Given the description of an element on the screen output the (x, y) to click on. 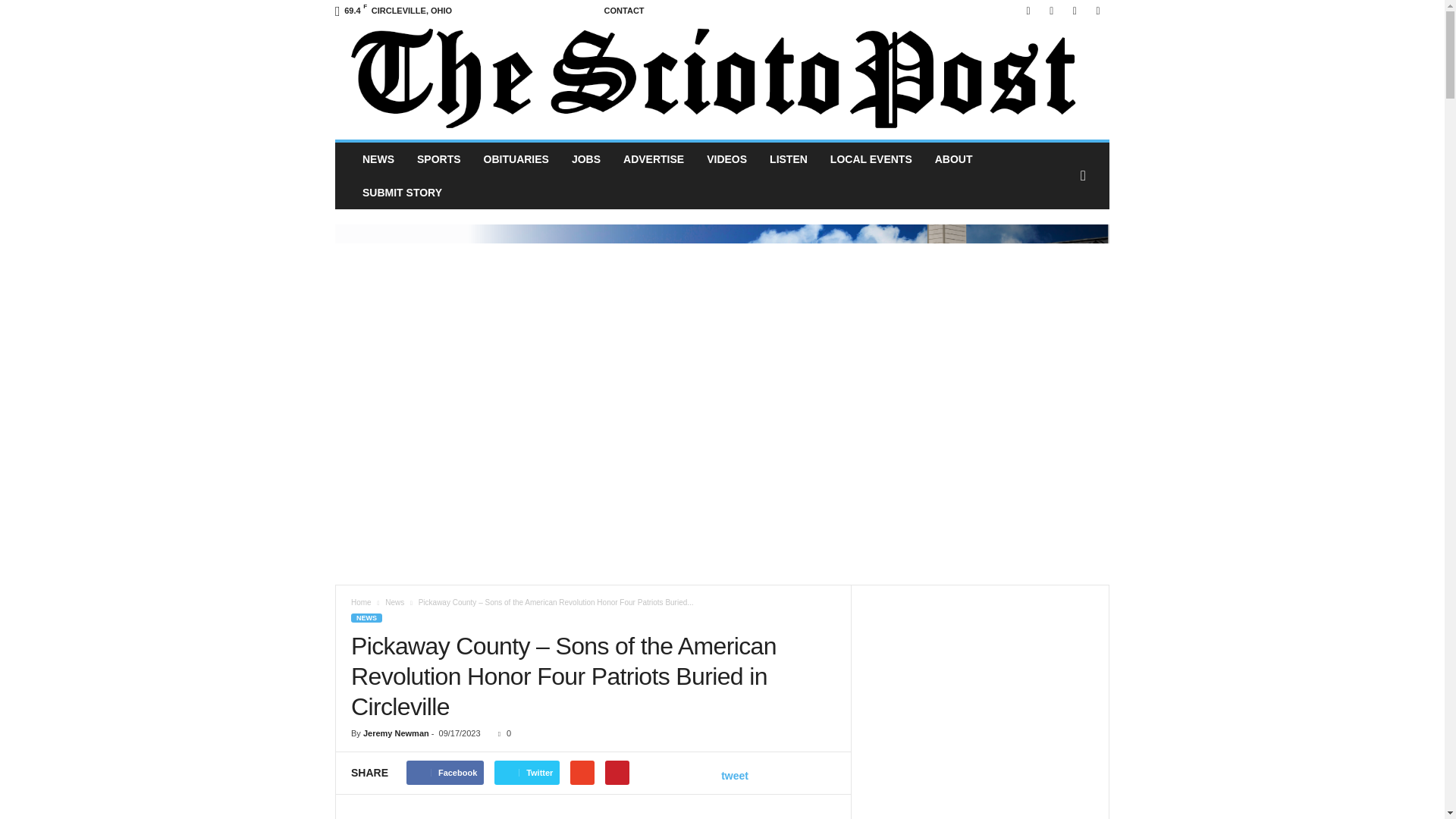
ADVERTISE (653, 159)
Scioto Post (721, 80)
SPORTS (438, 159)
LOCAL EVENTS (870, 159)
ABOUT (953, 159)
JOBS (585, 159)
OBITUARIES (515, 159)
CONTACT (624, 10)
View all posts in News (394, 602)
LISTEN (788, 159)
NEWS (378, 159)
VIDEOS (726, 159)
